Given the description of an element on the screen output the (x, y) to click on. 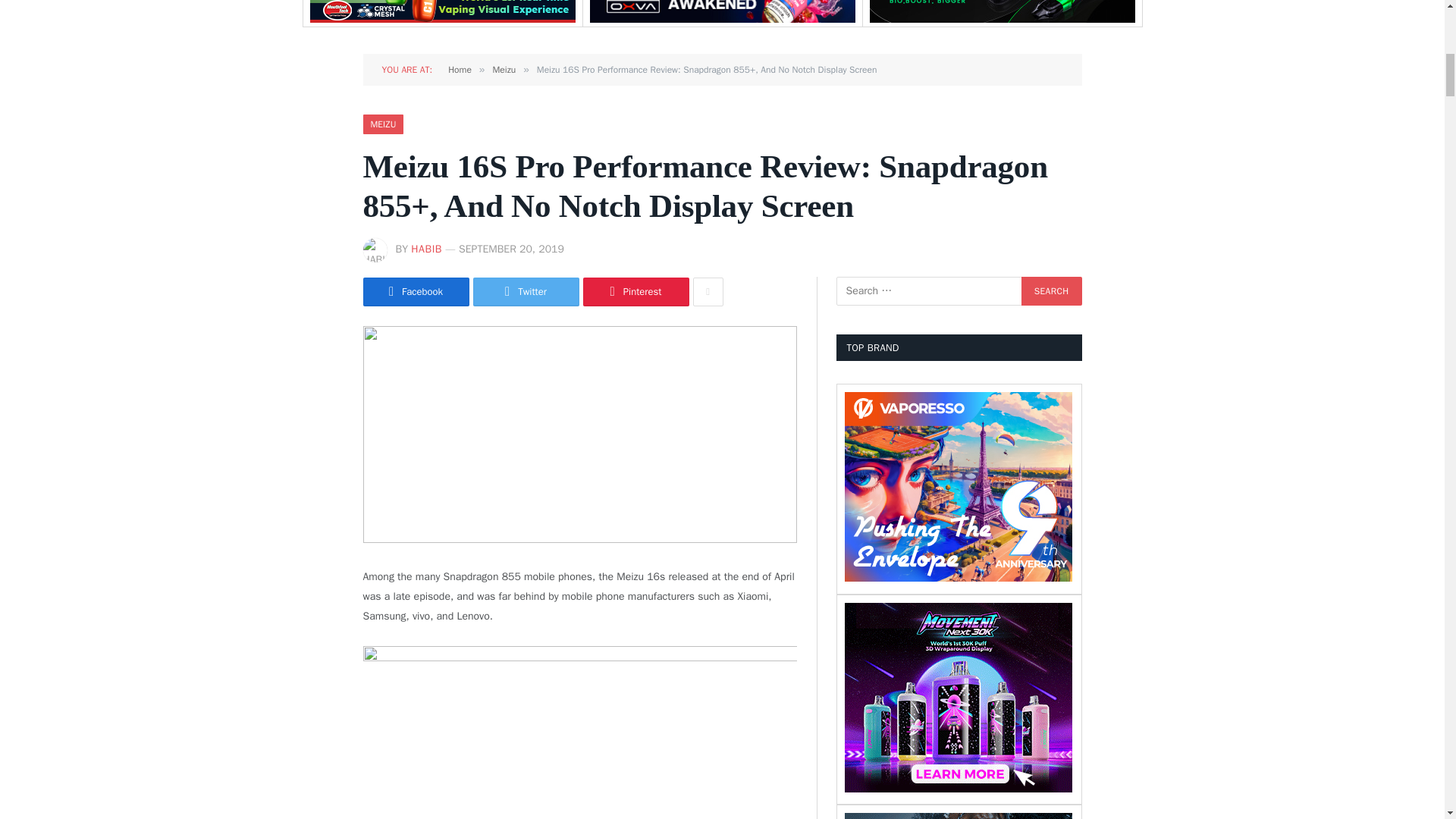
Share on Pinterest (635, 291)
Search (1051, 290)
Share on Facebook (415, 291)
Share on Twitter (526, 291)
Show More Social Sharing (708, 291)
Search (1051, 290)
Posts by Habib (426, 248)
